Given the description of an element on the screen output the (x, y) to click on. 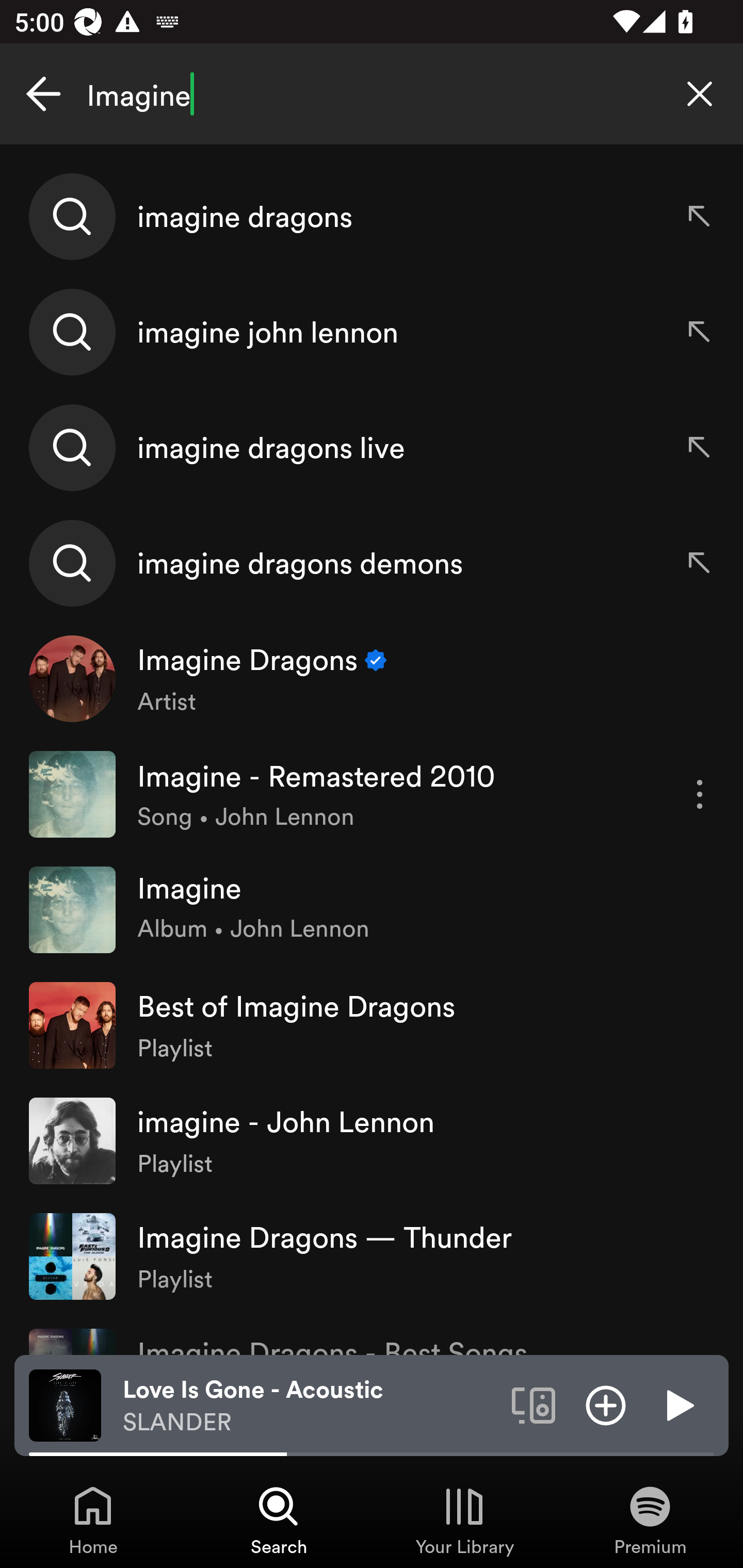
Imagine (371, 93)
Cancel (43, 93)
Clear search query (699, 93)
imagine dragons (371, 216)
imagine john lennon (371, 332)
imagine dragons live (371, 447)
imagine dragons demons (371, 562)
Imagine Dragons Verified Artist (371, 678)
More options for song Imagine - Remastered 2010 (699, 794)
Imagine Album • John Lennon (371, 909)
Best of Imagine Dragons Playlist (371, 1025)
imagine - John Lennon Playlist (371, 1140)
Imagine Dragons — Thunder Playlist (371, 1255)
Love Is Gone - Acoustic SLANDER (309, 1405)
The cover art of the currently playing track (64, 1404)
Connect to a device. Opens the devices menu (533, 1404)
Add item (605, 1404)
Play (677, 1404)
Home, Tab 1 of 4 Home Home (92, 1519)
Search, Tab 2 of 4 Search Search (278, 1519)
Your Library, Tab 3 of 4 Your Library Your Library (464, 1519)
Premium, Tab 4 of 4 Premium Premium (650, 1519)
